Given the description of an element on the screen output the (x, y) to click on. 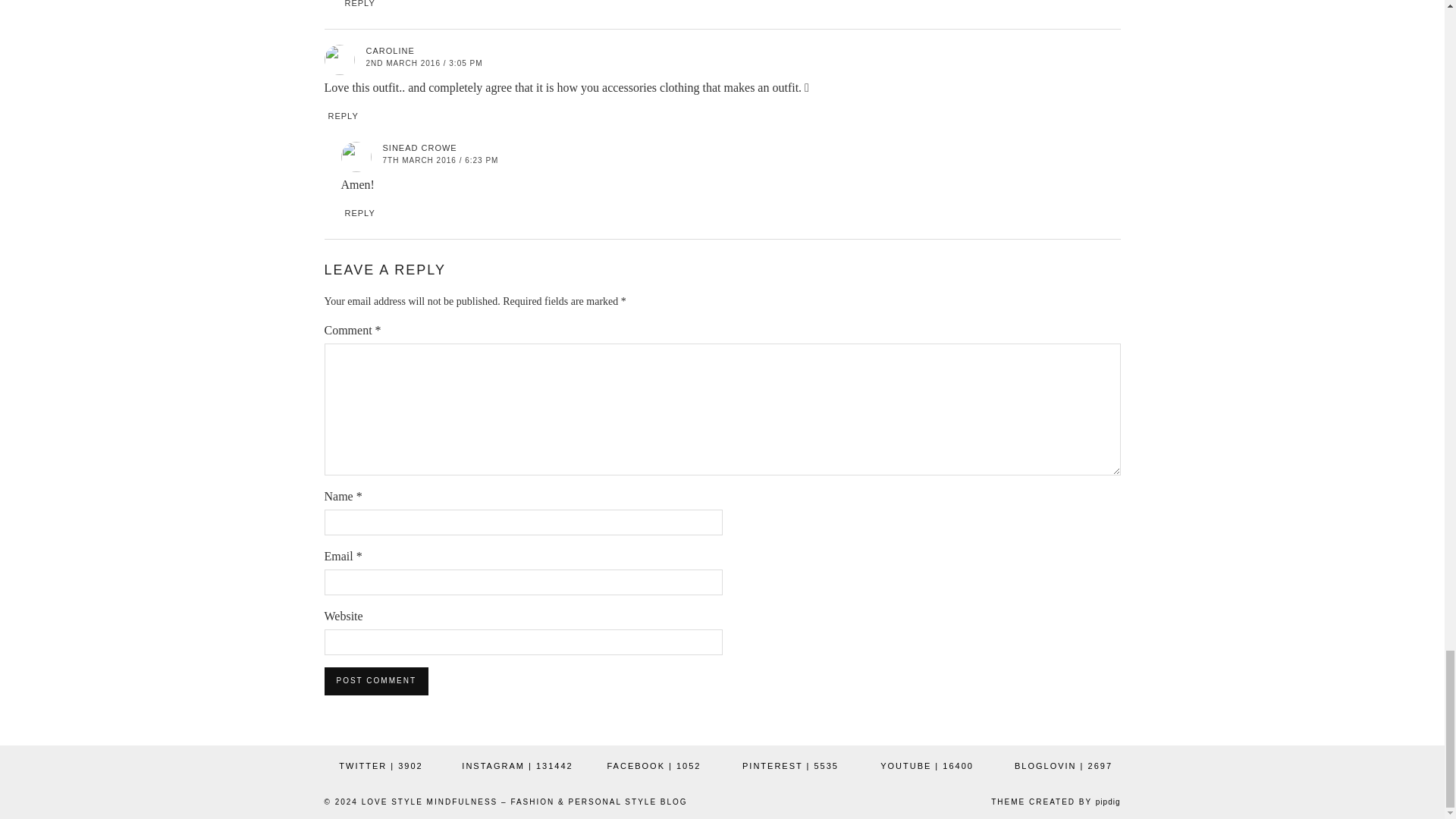
Post Comment (376, 680)
